Given the description of an element on the screen output the (x, y) to click on. 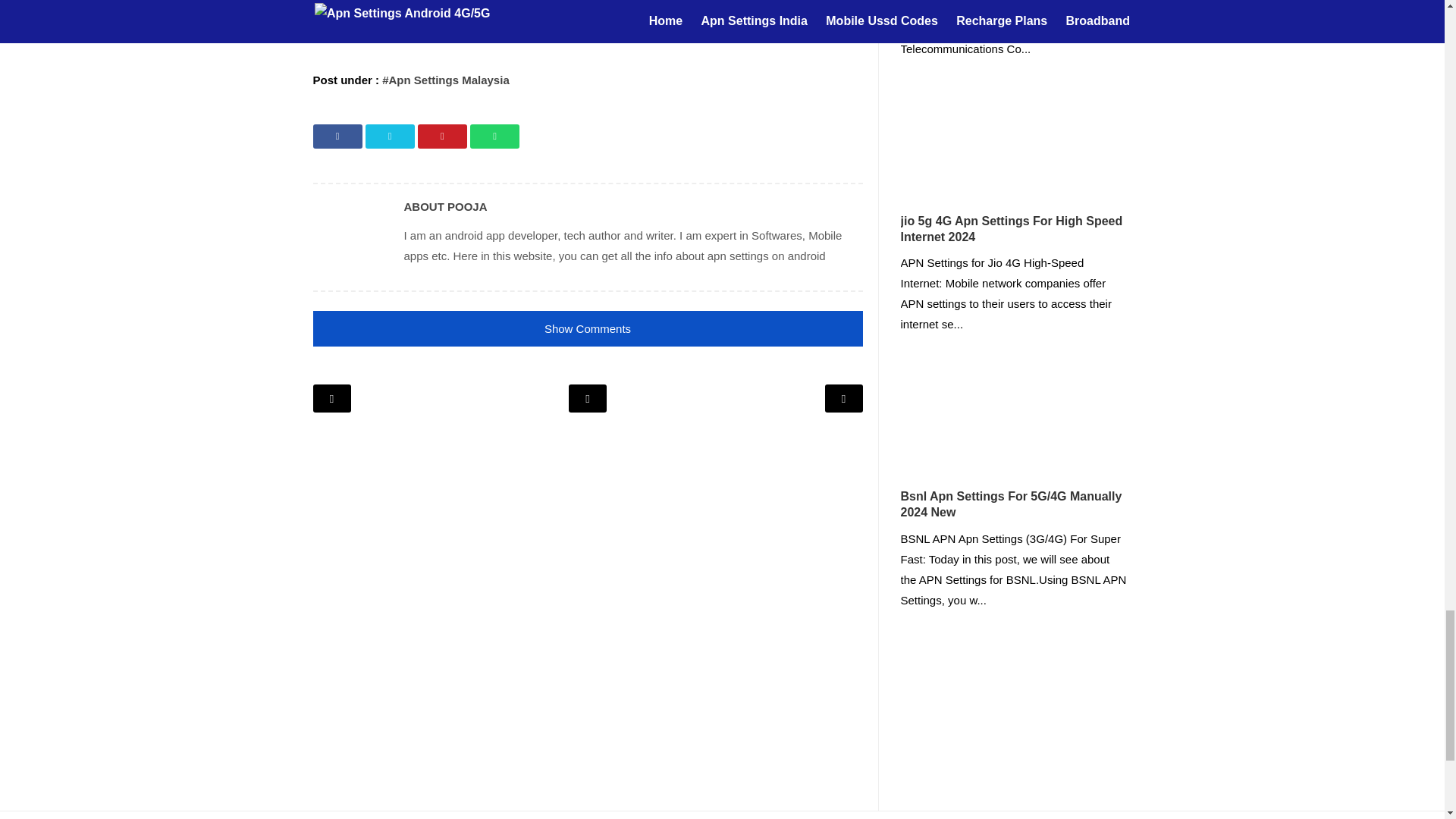
Author Profile (350, 237)
Apn Settings Malaysia (445, 79)
WhatsApp (494, 136)
Advertisement (587, 25)
Pinterest (442, 136)
